Given the description of an element on the screen output the (x, y) to click on. 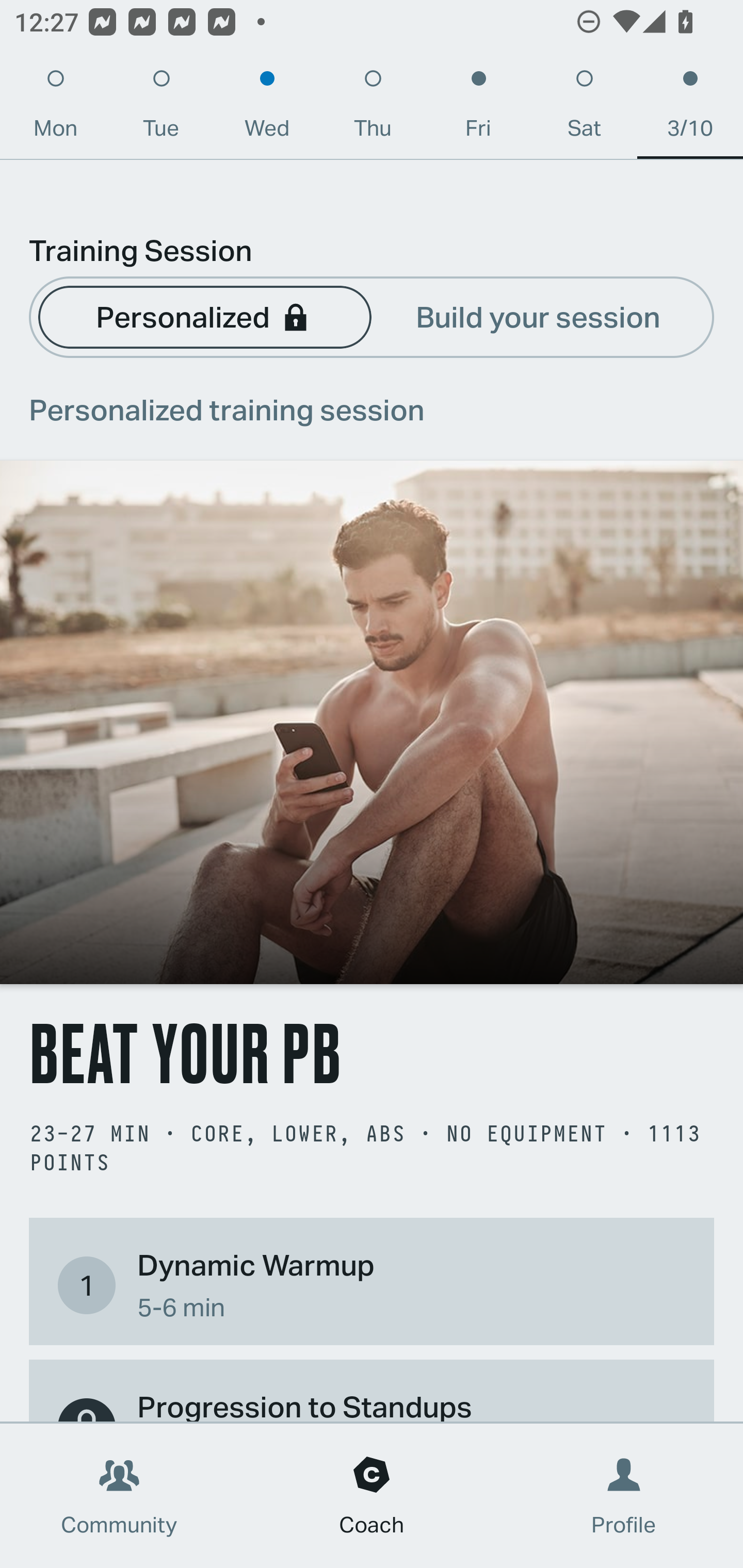
Mon (55, 108)
Tue (160, 108)
Wed (266, 108)
Thu (372, 108)
Fri (478, 108)
Sat (584, 108)
3/10 (690, 108)
Personalized (204, 315)
Build your session (538, 315)
1 Dynamic Warmup 5-6 min (371, 1284)
Community (119, 1495)
Profile (624, 1495)
